Given the description of an element on the screen output the (x, y) to click on. 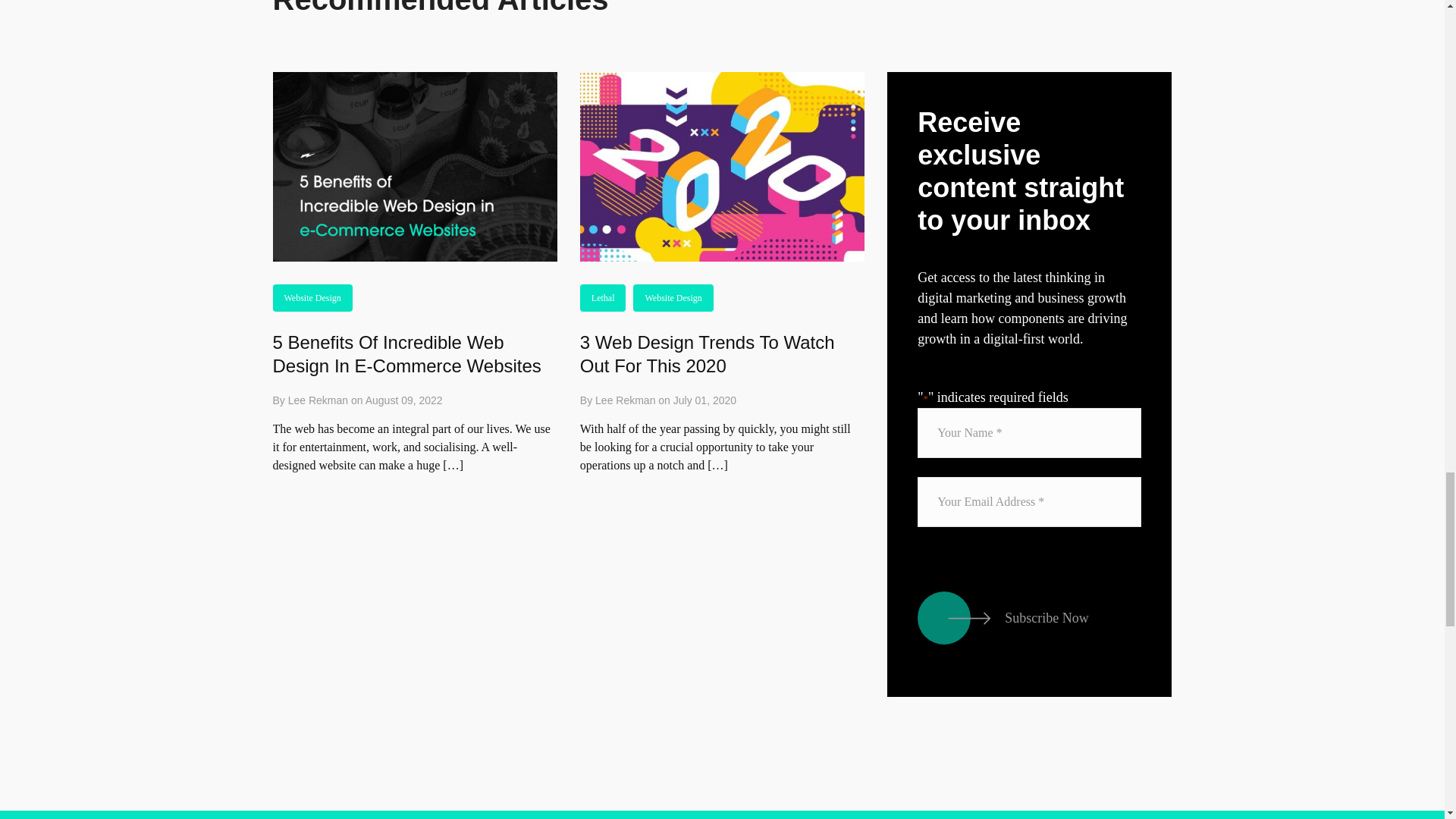
3 Web Design Trends To Watch Out For This 2020 (706, 353)
5 Benefits of Incredible Web Design in e-Commerce Websites (407, 353)
3 Web Design Trends to Watch Out for This 2020 (706, 353)
Subscribe Now (1010, 617)
5 Benefits Of Incredible Web Design In E-Commerce Websites (407, 353)
